Given the description of an element on the screen output the (x, y) to click on. 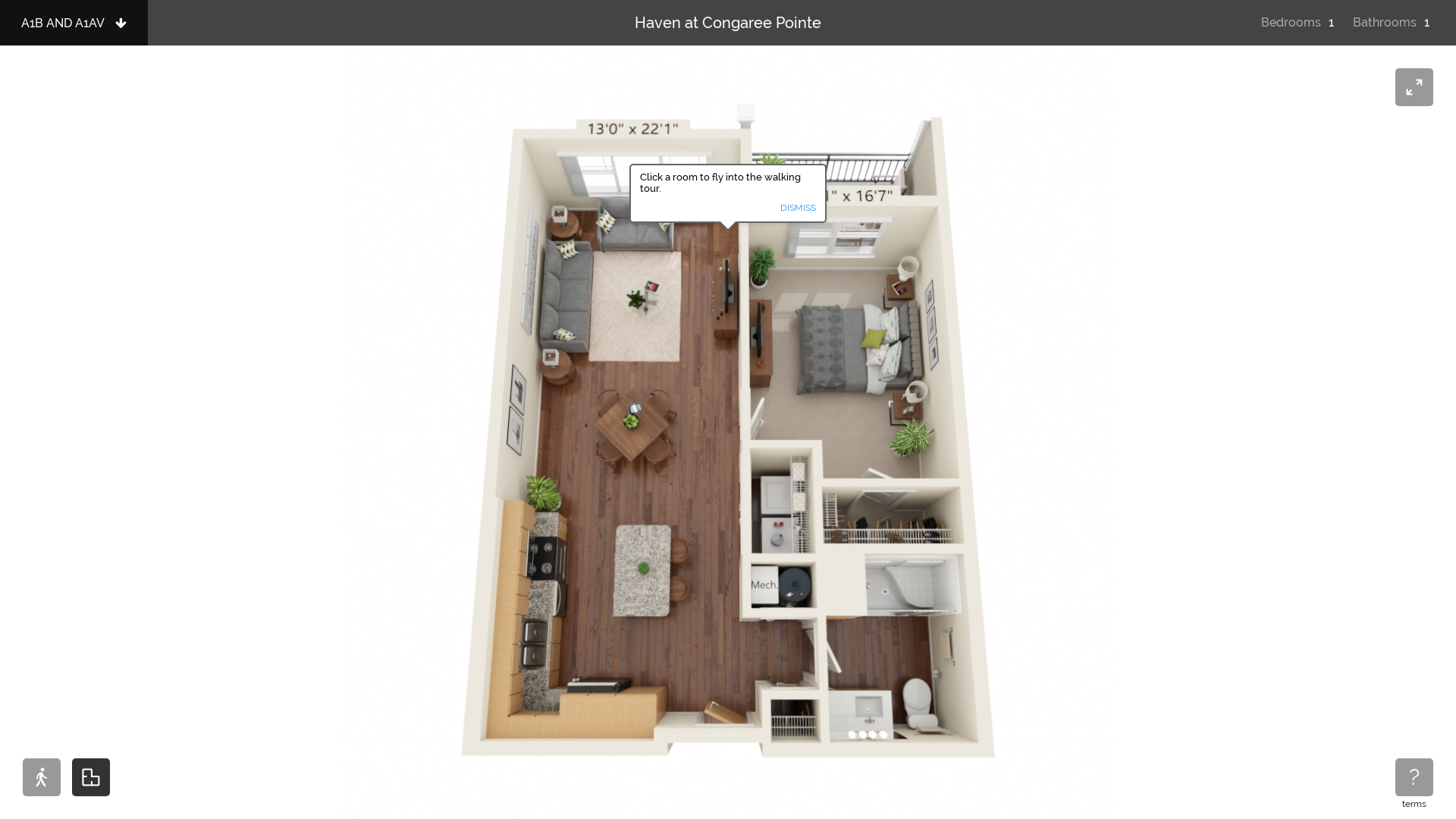
Haven at Congaree Pointe Element type: text (727, 22)
